Given the description of an element on the screen output the (x, y) to click on. 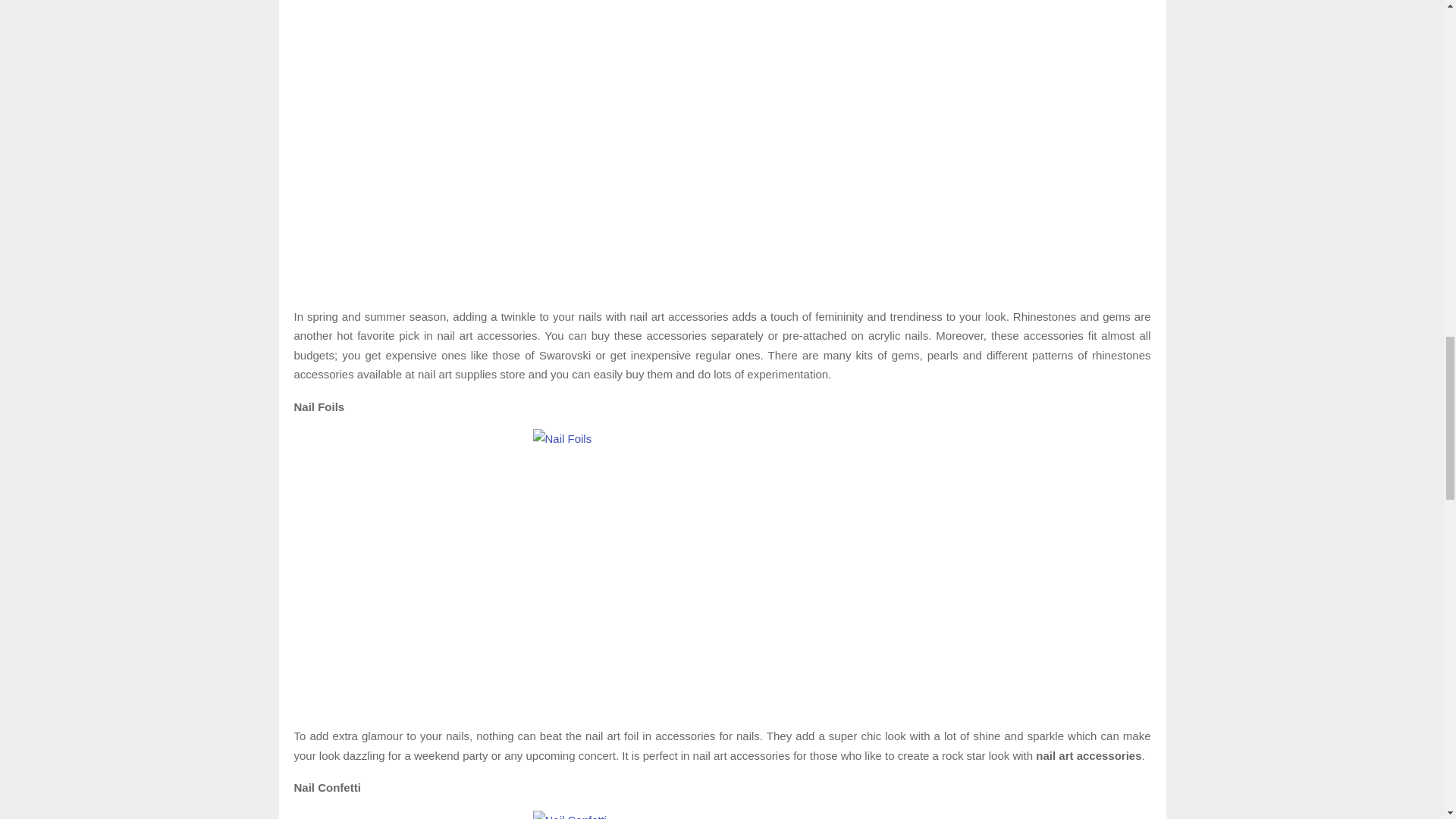
Nail Foils (721, 571)
Gems and Bling Nail Art (721, 68)
Advertisement (722, 224)
